Given the description of an element on the screen output the (x, y) to click on. 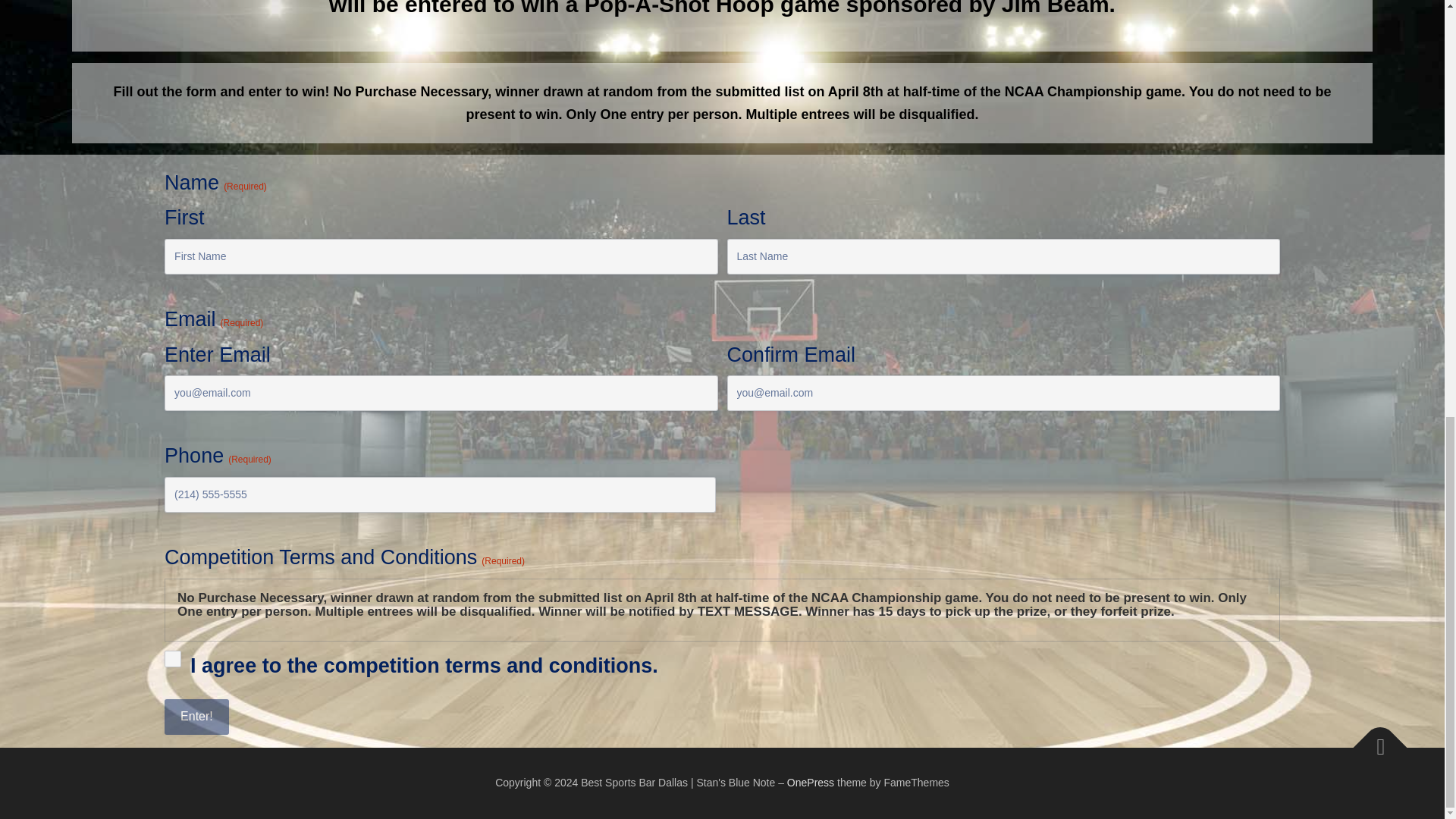
Back To Top (1372, 740)
1 (172, 658)
OnePress (810, 782)
Enter! (196, 716)
Enter! (196, 716)
